Given the description of an element on the screen output the (x, y) to click on. 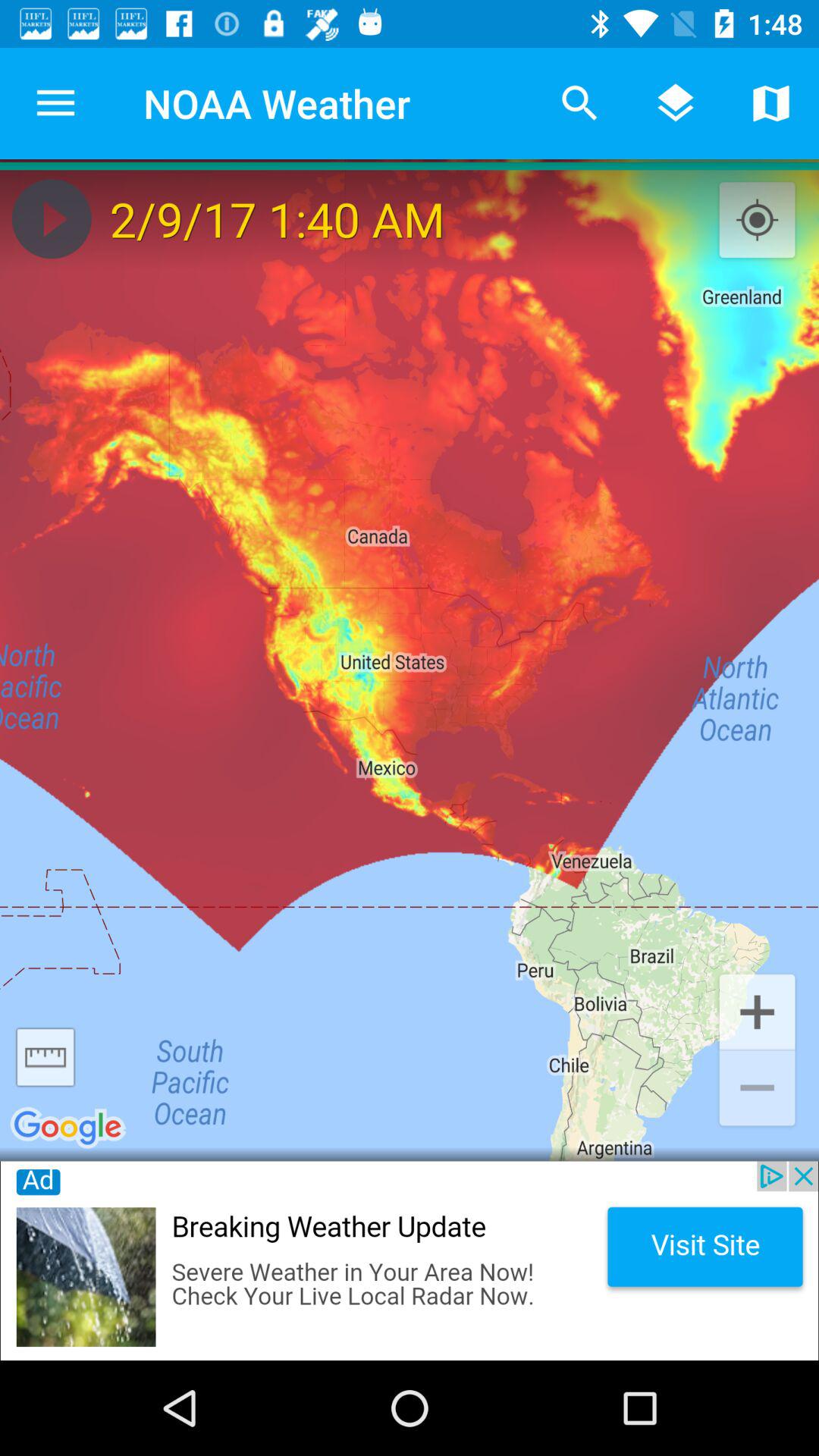
scaling option (45, 1057)
